Given the description of an element on the screen output the (x, y) to click on. 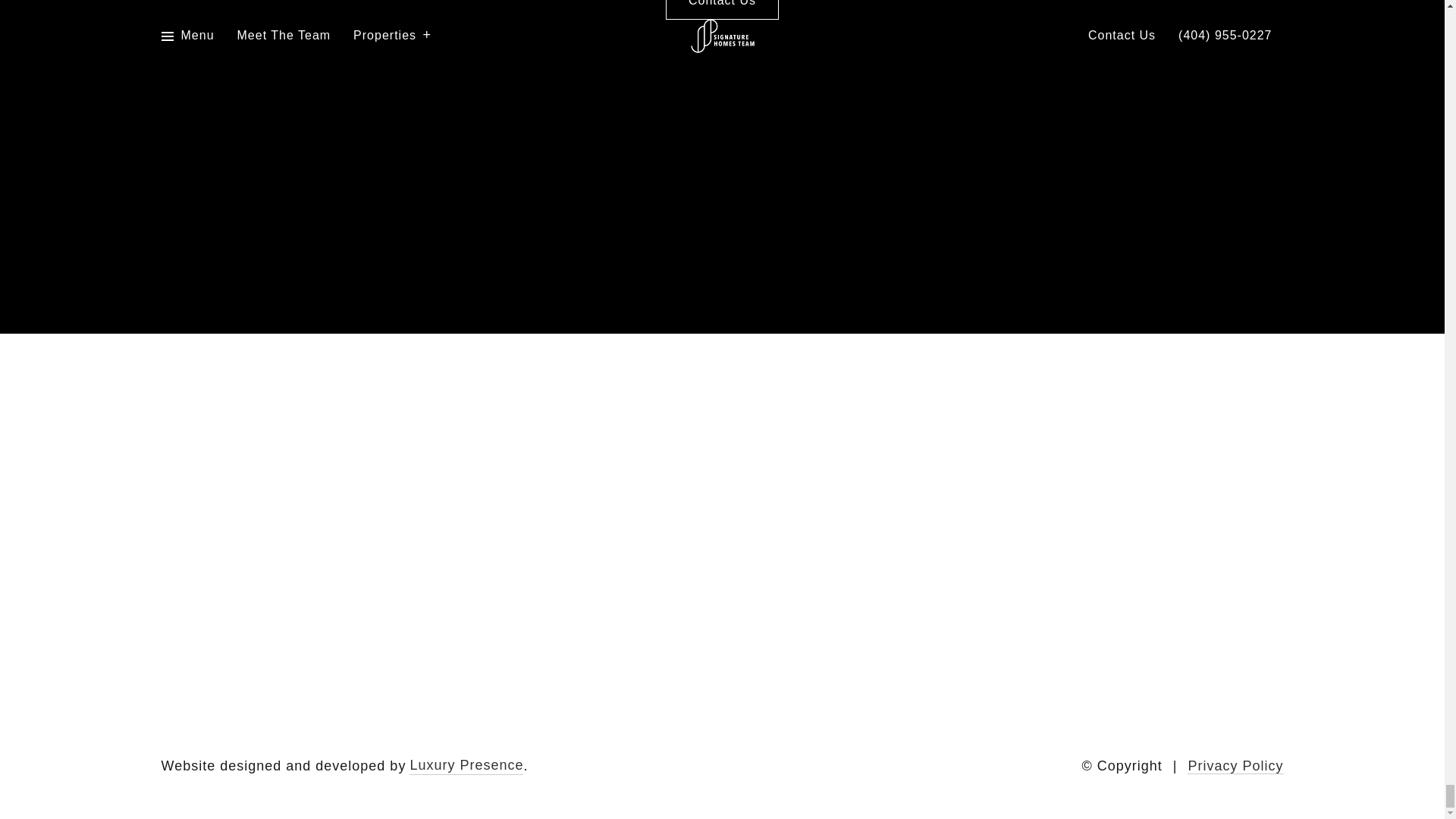
Contact Us (721, 9)
